Given the description of an element on the screen output the (x, y) to click on. 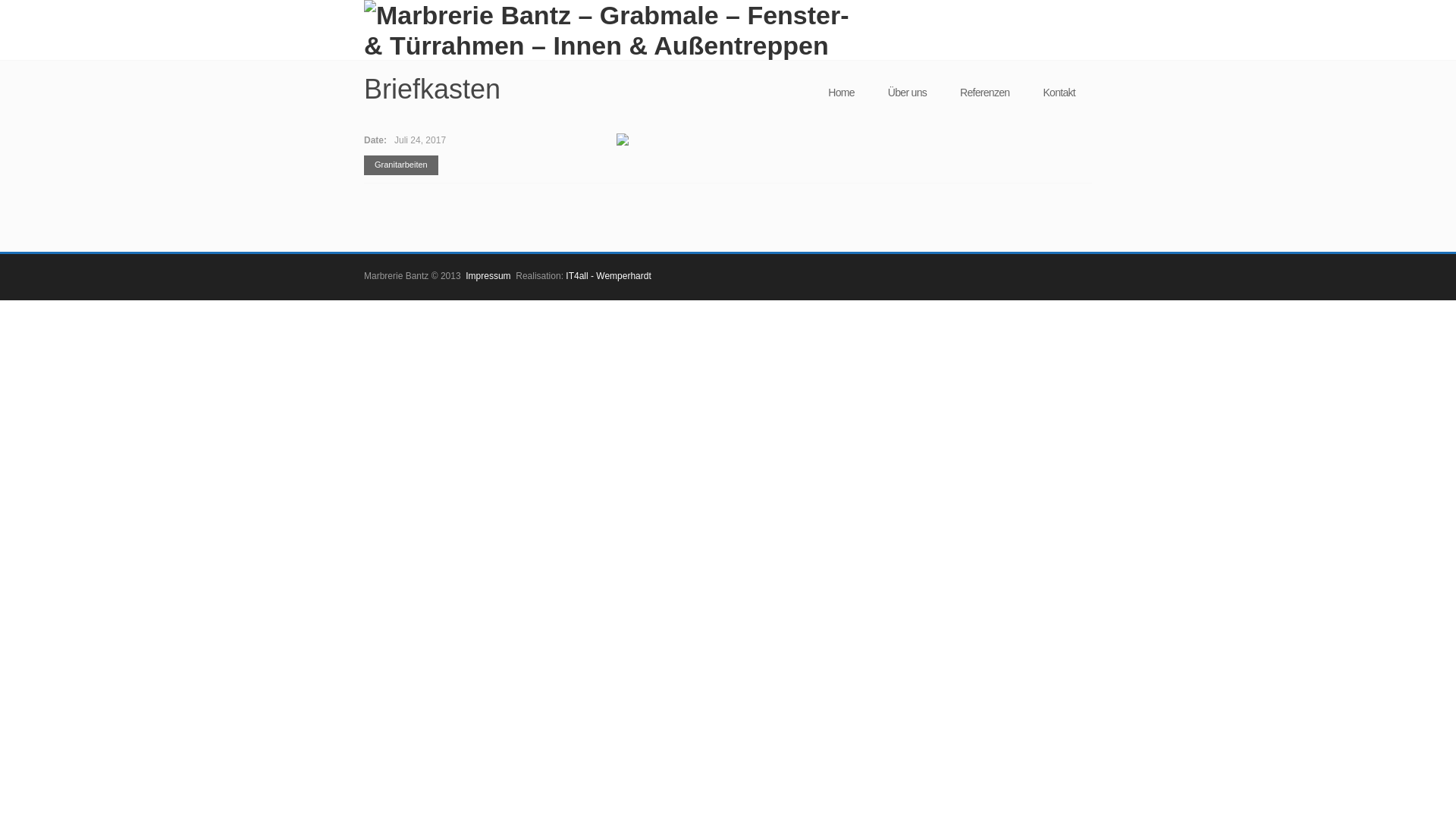
Kontakt Element type: text (1059, 91)
IT4all - Wemperhardt Element type: text (607, 275)
Impressum Element type: text (487, 275)
Referenzen Element type: text (984, 91)
Granitarbeiten Element type: text (401, 165)
Home Element type: text (841, 91)
